Given the description of an element on the screen output the (x, y) to click on. 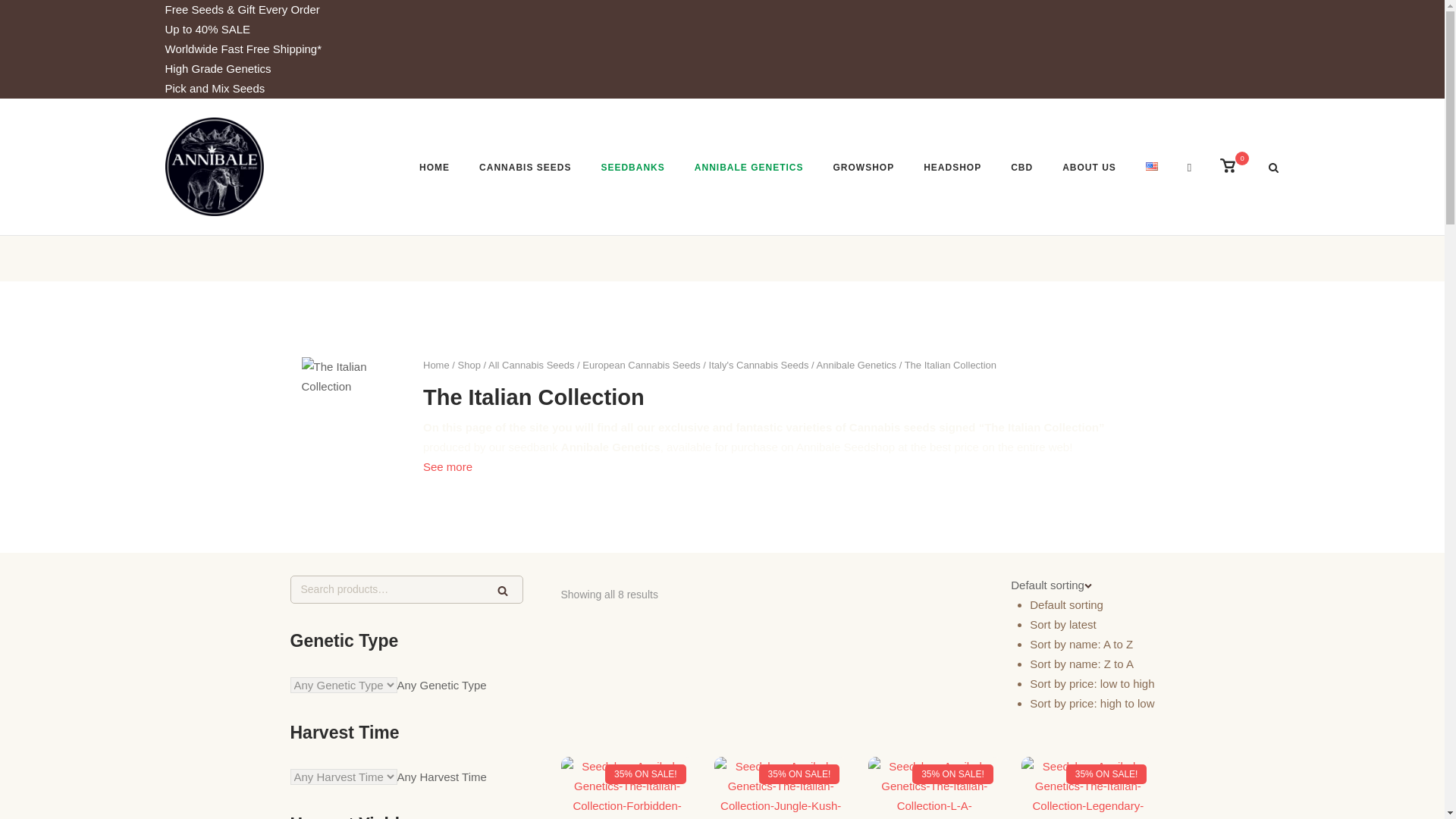
SEEDBANKS (631, 169)
HOME (434, 169)
CANNABIS SEEDS (524, 169)
